Given the description of an element on the screen output the (x, y) to click on. 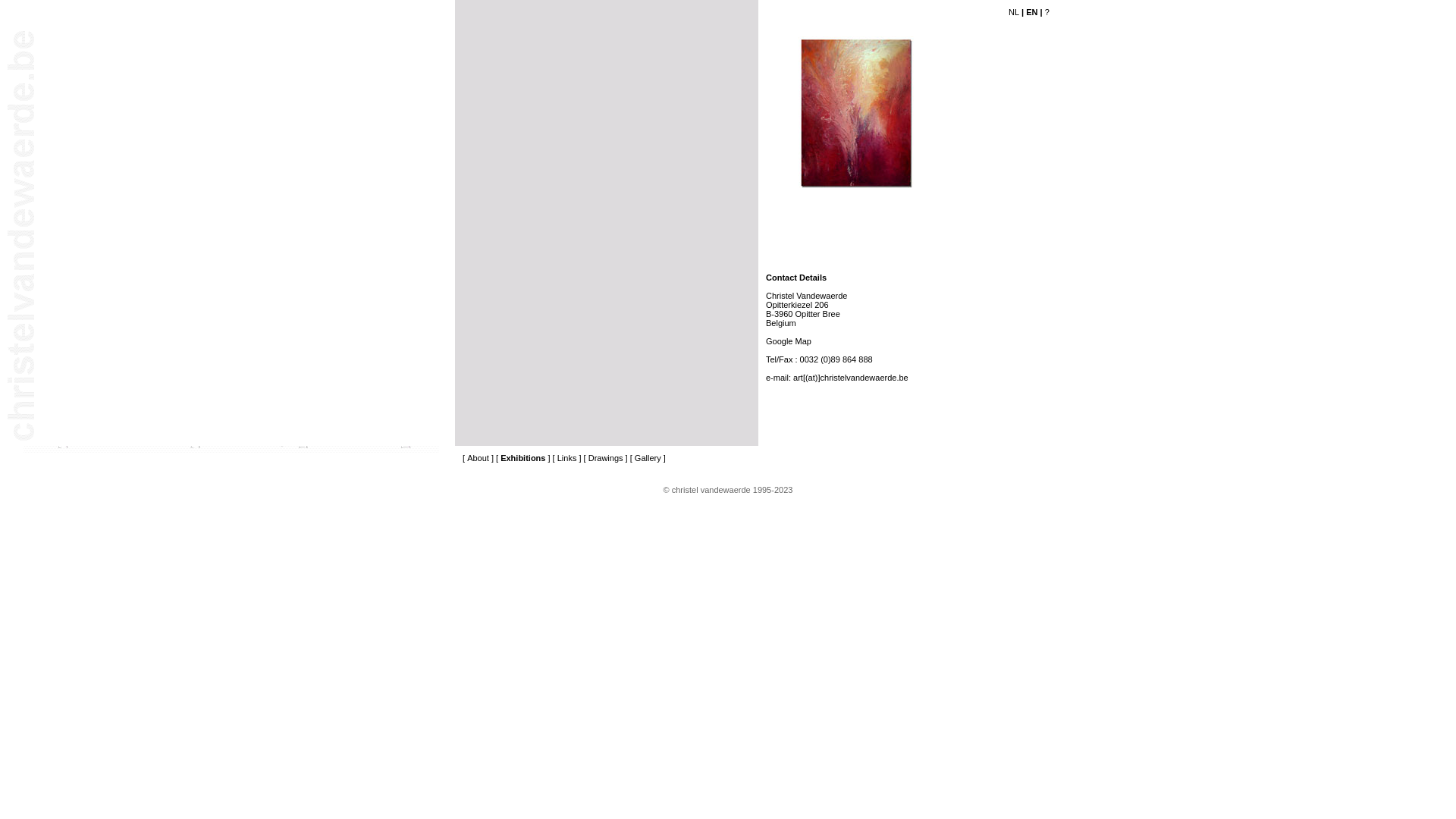
? Element type: text (1046, 11)
Google Map Element type: text (788, 340)
About Element type: text (478, 457)
Links Element type: text (567, 457)
NL Element type: text (1013, 11)
Gallery Element type: text (647, 457)
Drawings Element type: text (605, 457)
